Given the description of an element on the screen output the (x, y) to click on. 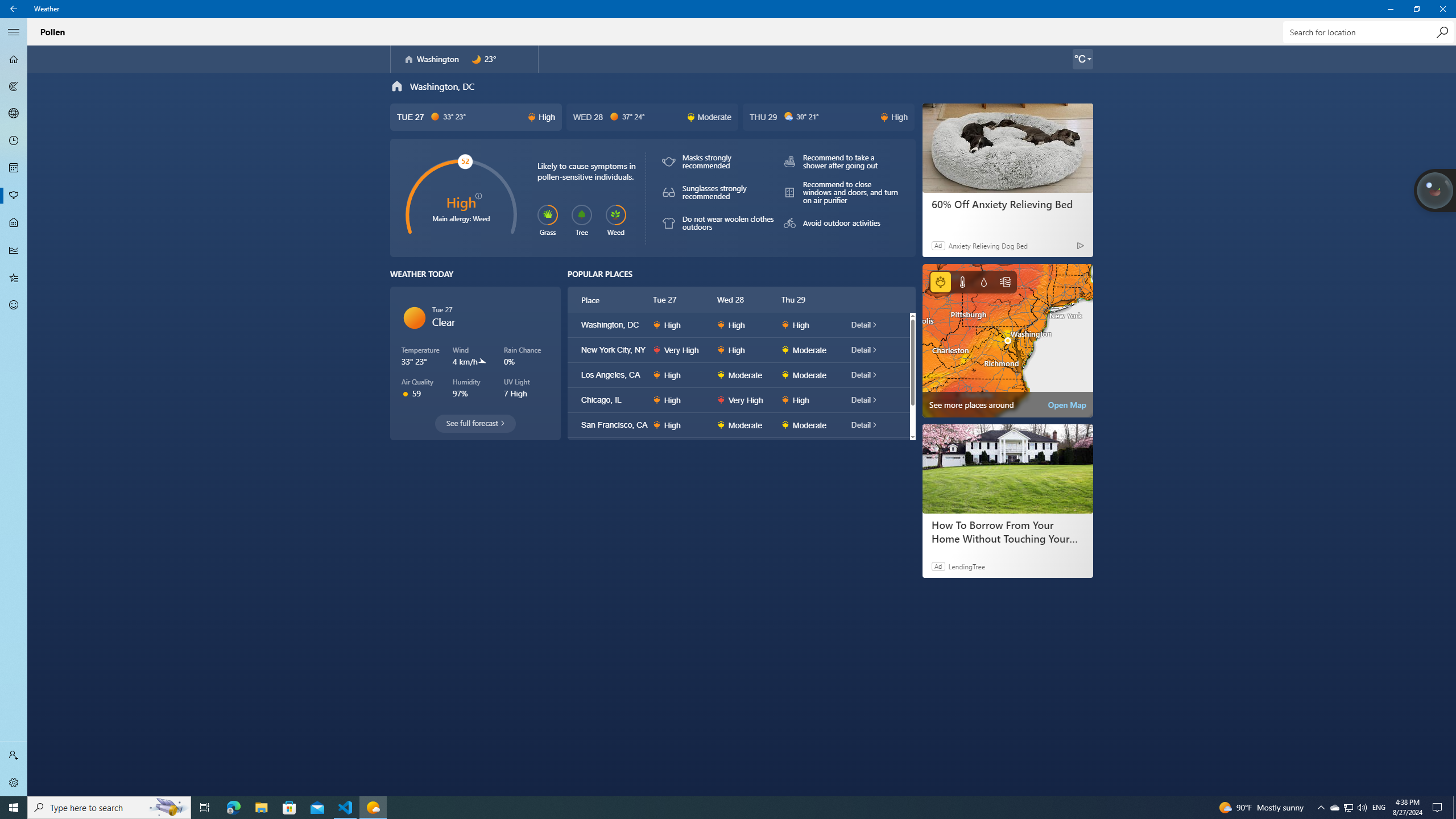
Forecast - Not Selected (13, 58)
Pollen - Not Selected (13, 195)
Historical Weather - Not Selected (13, 249)
Hourly Forecast - Not Selected (13, 140)
Send Feedback - Not Selected (13, 304)
Restore Weather (1416, 9)
Forecast - Not Selected (13, 58)
Sign in (13, 755)
3D Maps - Not Selected (13, 113)
